Given the description of an element on the screen output the (x, y) to click on. 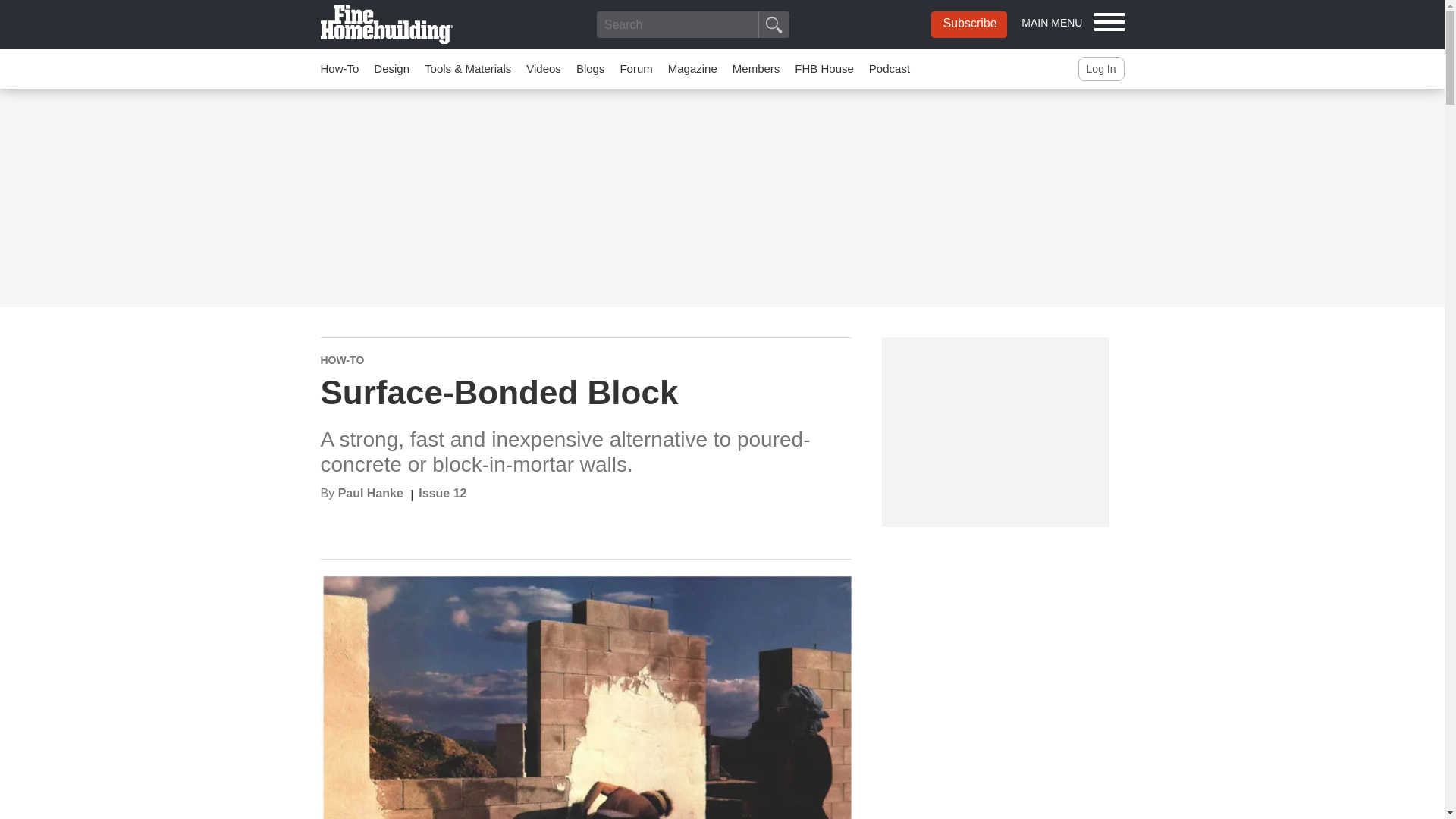
How-To (339, 68)
Blogs (590, 68)
Issue 12 (442, 492)
MAIN MENU (1073, 21)
Videos (542, 68)
Paul Hanke (370, 492)
Log In (1101, 68)
SEARCH (773, 24)
Forum (636, 68)
FHB House (823, 68)
Members (756, 68)
Podcast (889, 68)
Subscribe (969, 24)
Magazine (692, 68)
Design (391, 68)
